Given the description of an element on the screen output the (x, y) to click on. 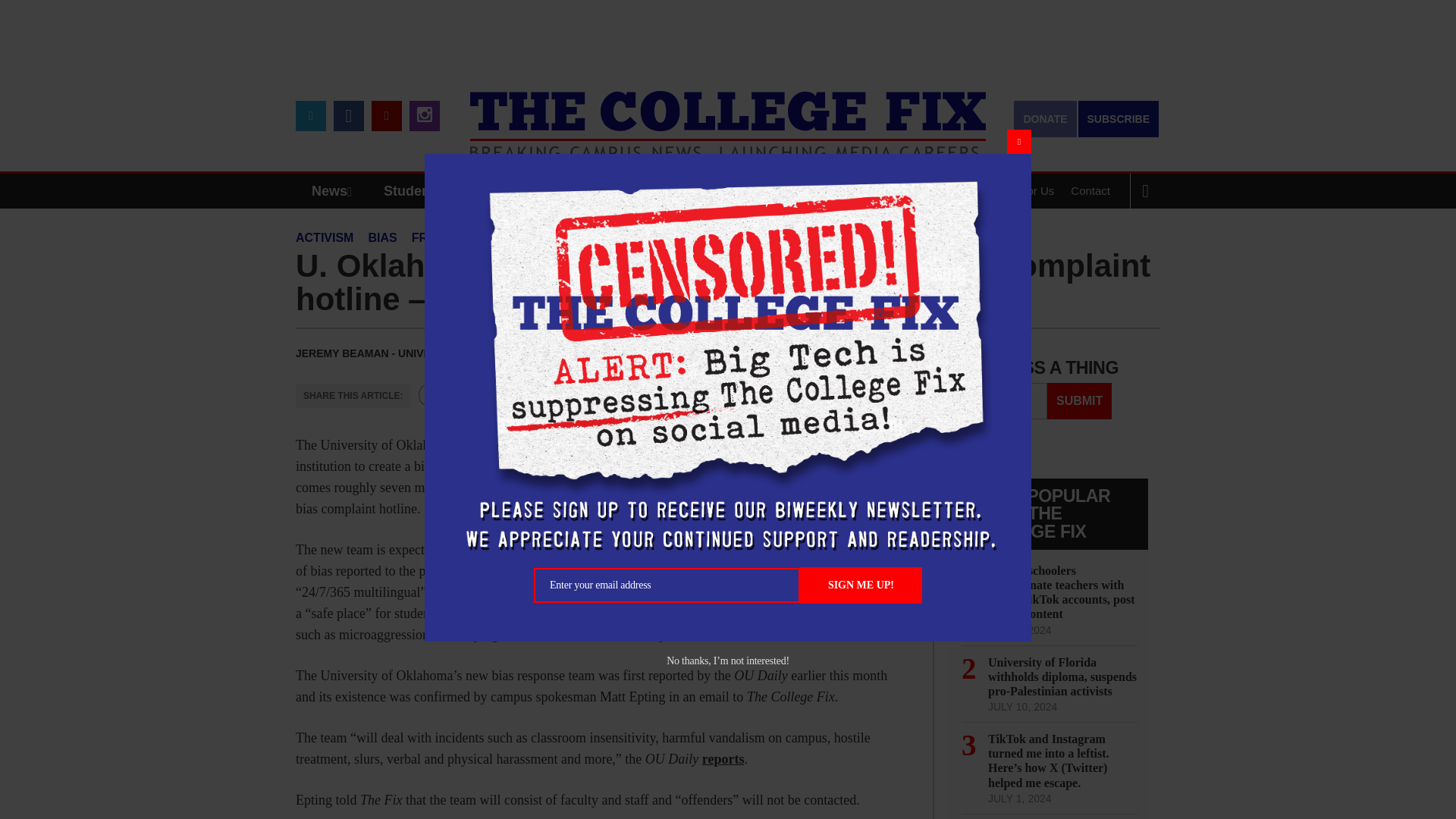
About The Fix (938, 190)
DONATE (1044, 118)
Student Reporters (443, 190)
SUBSCRIBE (1118, 118)
The College Fix (727, 114)
News (335, 190)
Submit (1079, 401)
MERCHANDISE (577, 190)
